Given the description of an element on the screen output the (x, y) to click on. 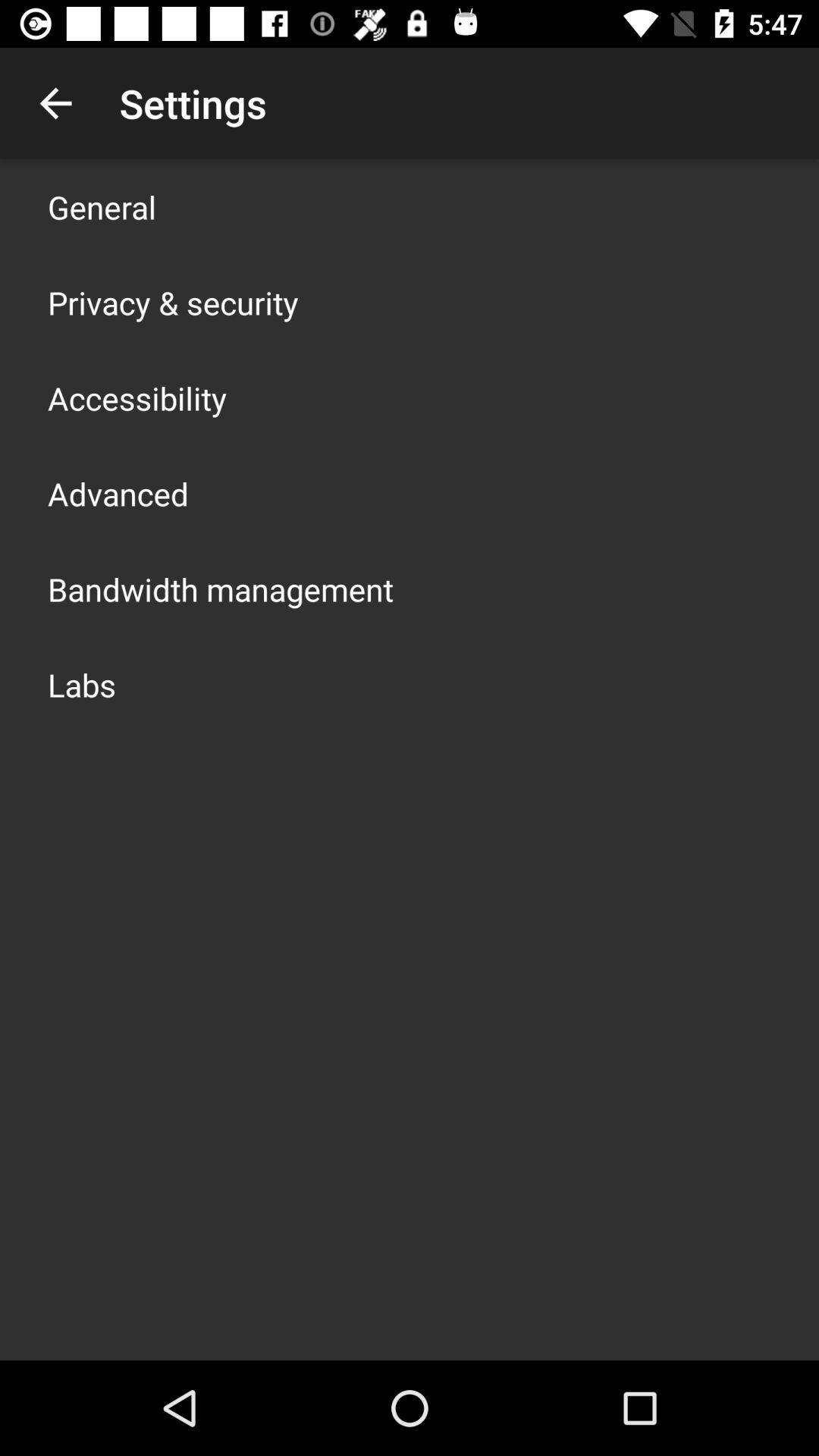
open the item above bandwidth management app (117, 493)
